Given the description of an element on the screen output the (x, y) to click on. 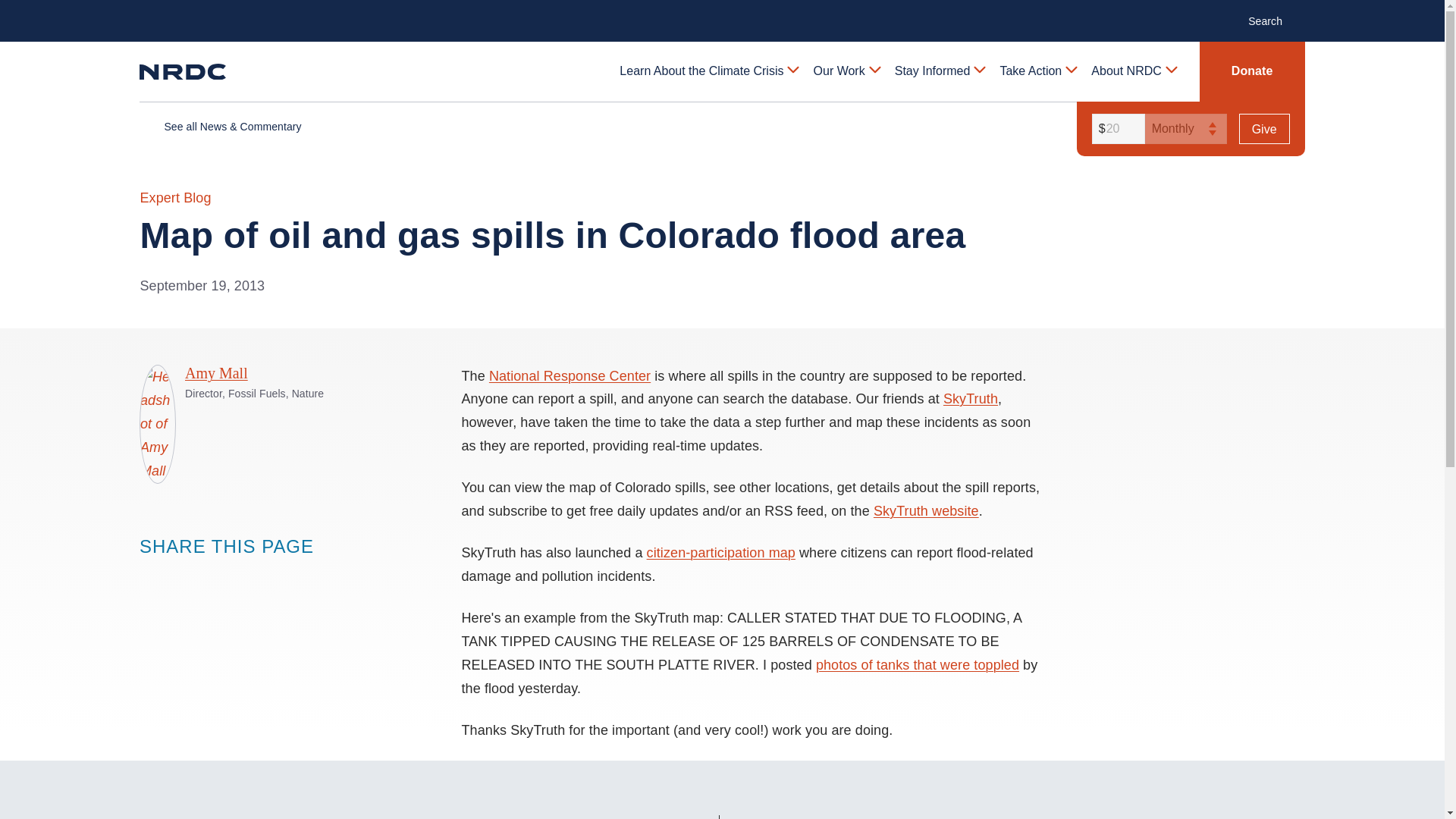
Skip to main content (721, 12)
Share this page block (149, 574)
20 (1116, 128)
Share this page block (210, 574)
Learn About the Climate Crisis (707, 71)
Share this page block (180, 574)
Search (1272, 19)
Our Work (846, 71)
Stay Informed (939, 71)
